Given the description of an element on the screen output the (x, y) to click on. 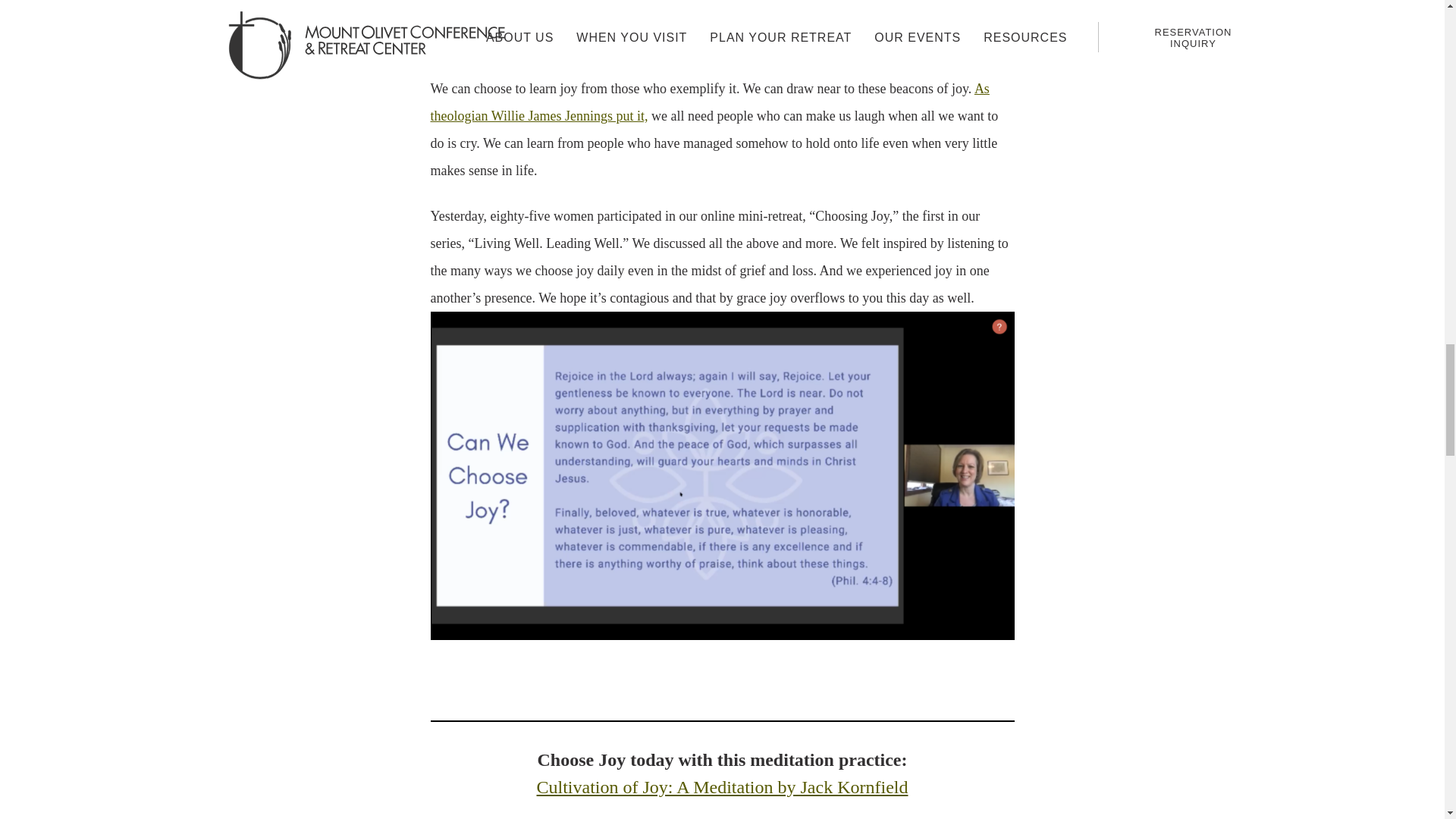
As theologian Willie James Jennings put it, (710, 102)
Cultivation of Joy: A Meditation by Jack Kornfield (722, 786)
